Given the description of an element on the screen output the (x, y) to click on. 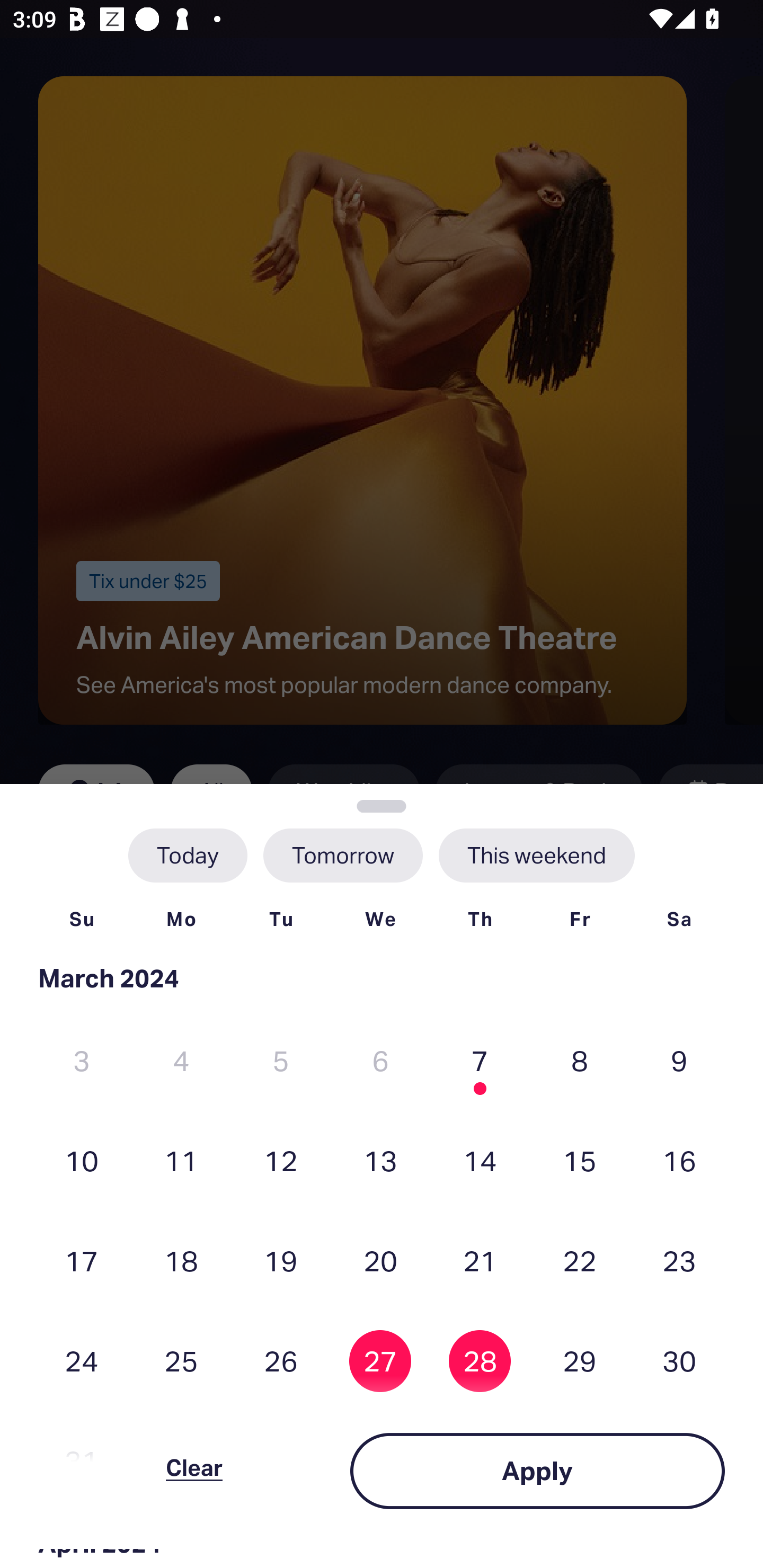
Today (187, 854)
Tomorrow (342, 854)
This weekend (536, 854)
3 (81, 1060)
4 (181, 1060)
5 (280, 1060)
6 (380, 1060)
7 (479, 1060)
8 (579, 1060)
9 (678, 1060)
10 (81, 1160)
11 (181, 1160)
12 (280, 1160)
13 (380, 1160)
14 (479, 1160)
15 (579, 1160)
16 (678, 1160)
17 (81, 1260)
18 (181, 1260)
19 (280, 1260)
20 (380, 1260)
21 (479, 1260)
22 (579, 1260)
23 (678, 1260)
24 (81, 1360)
25 (181, 1360)
26 (280, 1360)
27 (380, 1360)
28 (479, 1360)
29 (579, 1360)
30 (678, 1360)
Clear (194, 1470)
Apply (537, 1470)
